Given the description of an element on the screen output the (x, y) to click on. 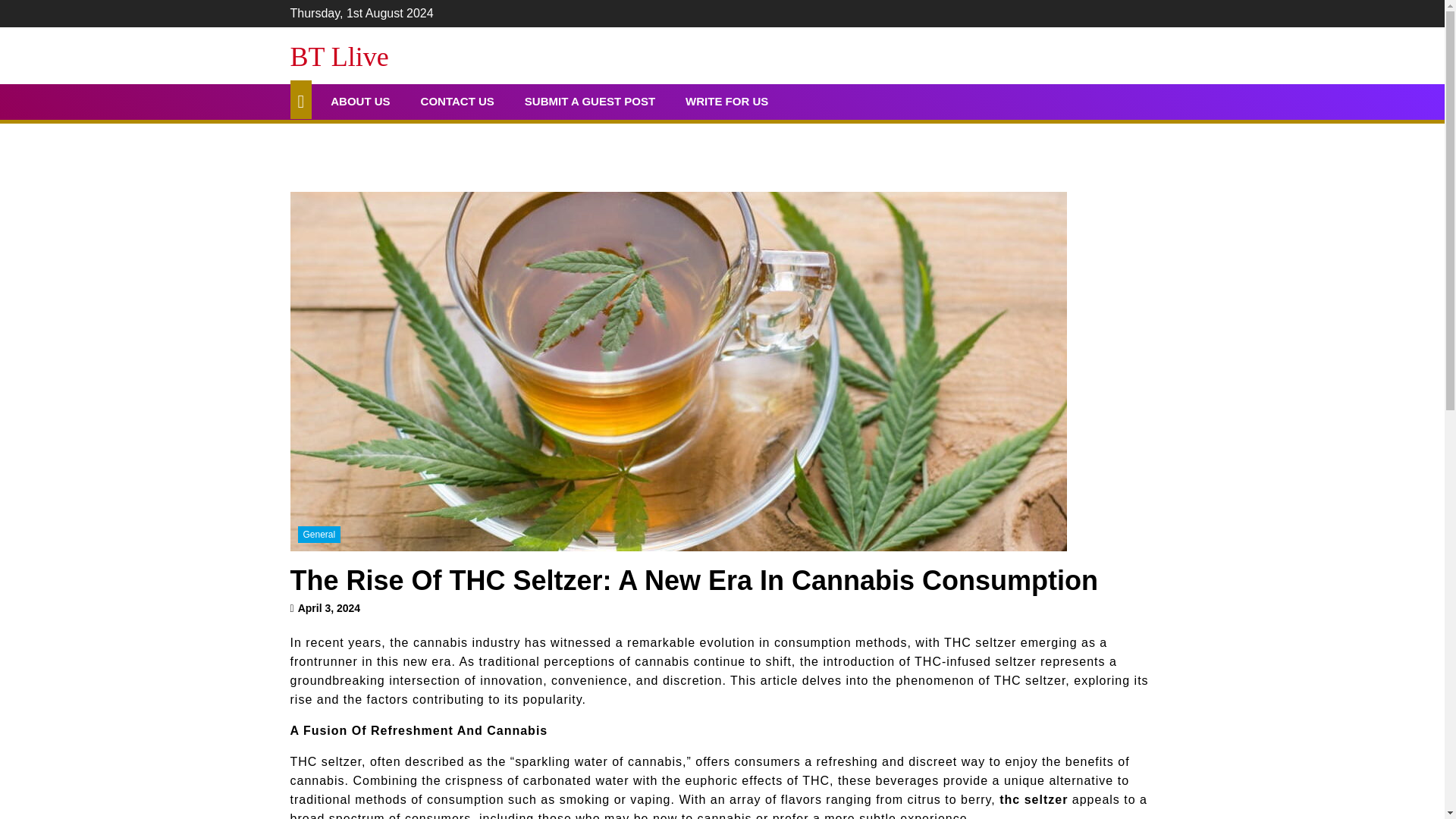
BT Llive (338, 56)
ABOUT US (359, 101)
April 3, 2024 (329, 607)
WRITE FOR US (726, 101)
General (318, 534)
SUBMIT A GUEST POST (589, 101)
CONTACT US (457, 101)
thc seltzer (1032, 799)
